Given the description of an element on the screen output the (x, y) to click on. 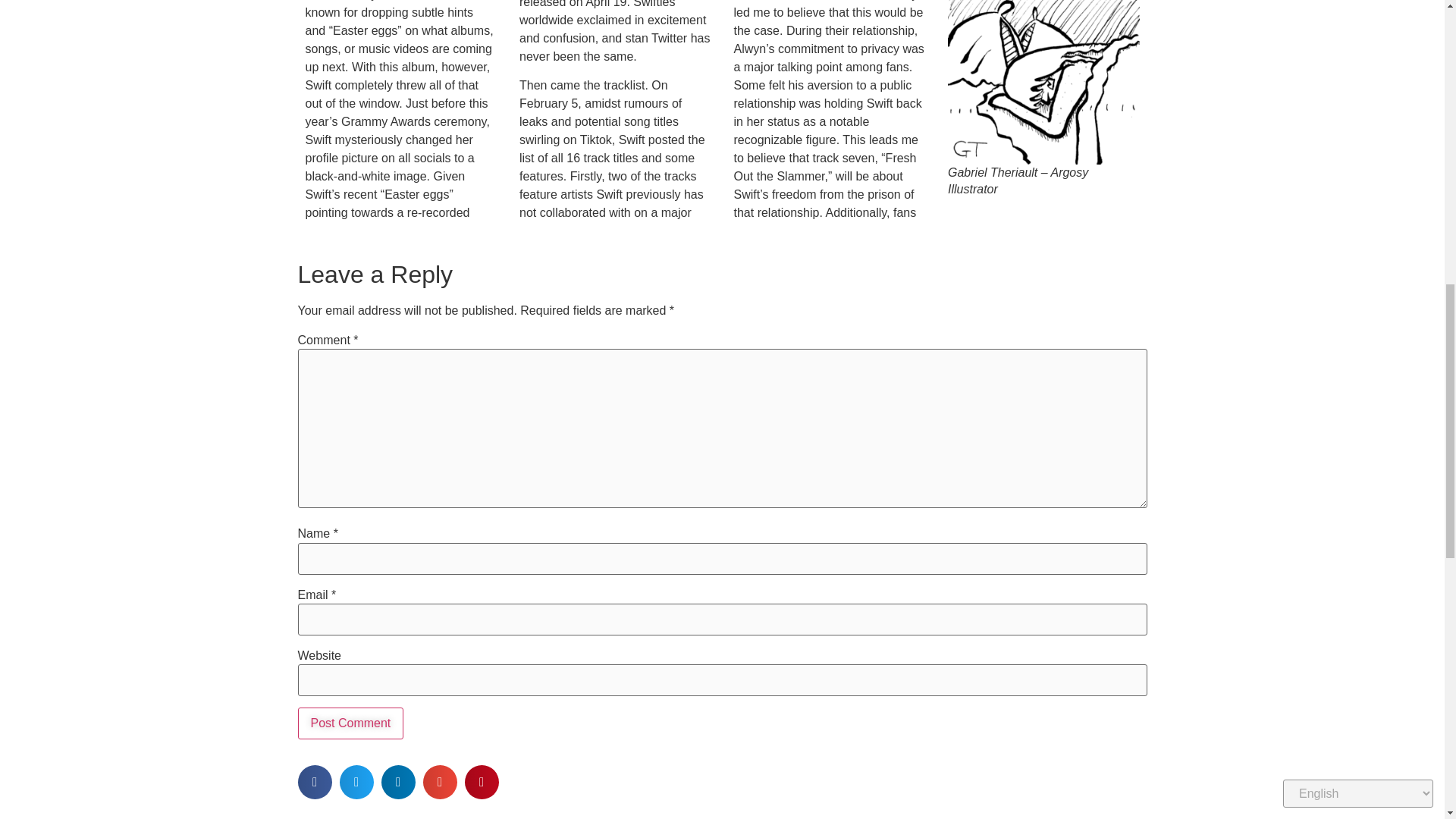
PREVIOUS (509, 816)
Post Comment (350, 723)
NEXT (934, 816)
Post Comment (350, 723)
